Given the description of an element on the screen output the (x, y) to click on. 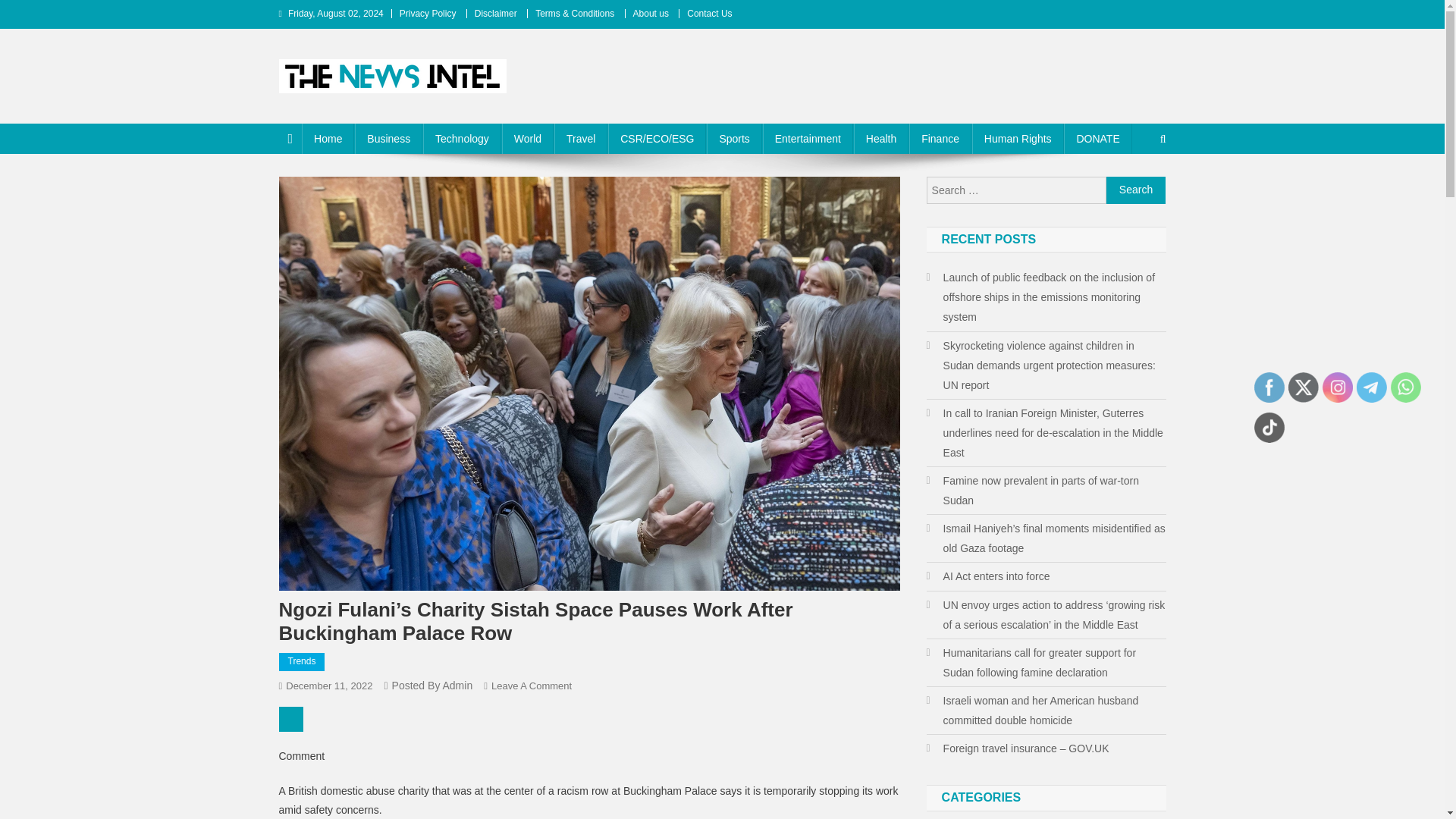
Trends (301, 661)
Travel (580, 138)
Twitter (1303, 387)
Business (388, 138)
Finance (939, 138)
Posted By Admin (432, 685)
Disclaimer (495, 13)
Search (1133, 189)
Search (1136, 189)
Comment on this story (290, 719)
December 11, 2022 (328, 685)
WhatsApp (1405, 387)
Human Rights (1018, 138)
Search (1136, 189)
Instagram (1337, 387)
